Given the description of an element on the screen output the (x, y) to click on. 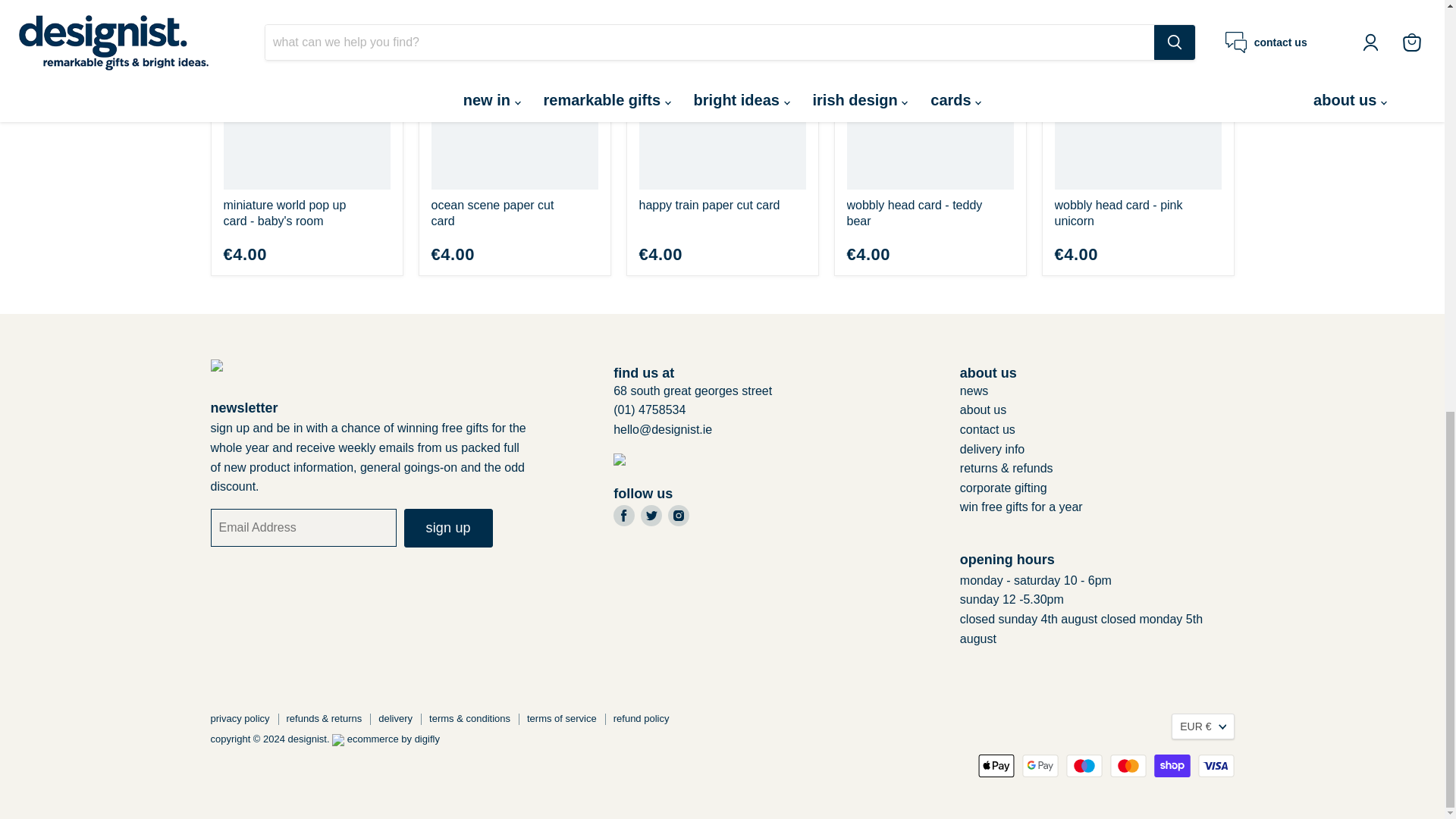
Instagram (678, 515)
Maestro (1083, 765)
Apple Pay (996, 765)
Twitter (651, 515)
Facebook (623, 515)
Google Pay (1040, 765)
Mastercard (1128, 765)
